Given the description of an element on the screen output the (x, y) to click on. 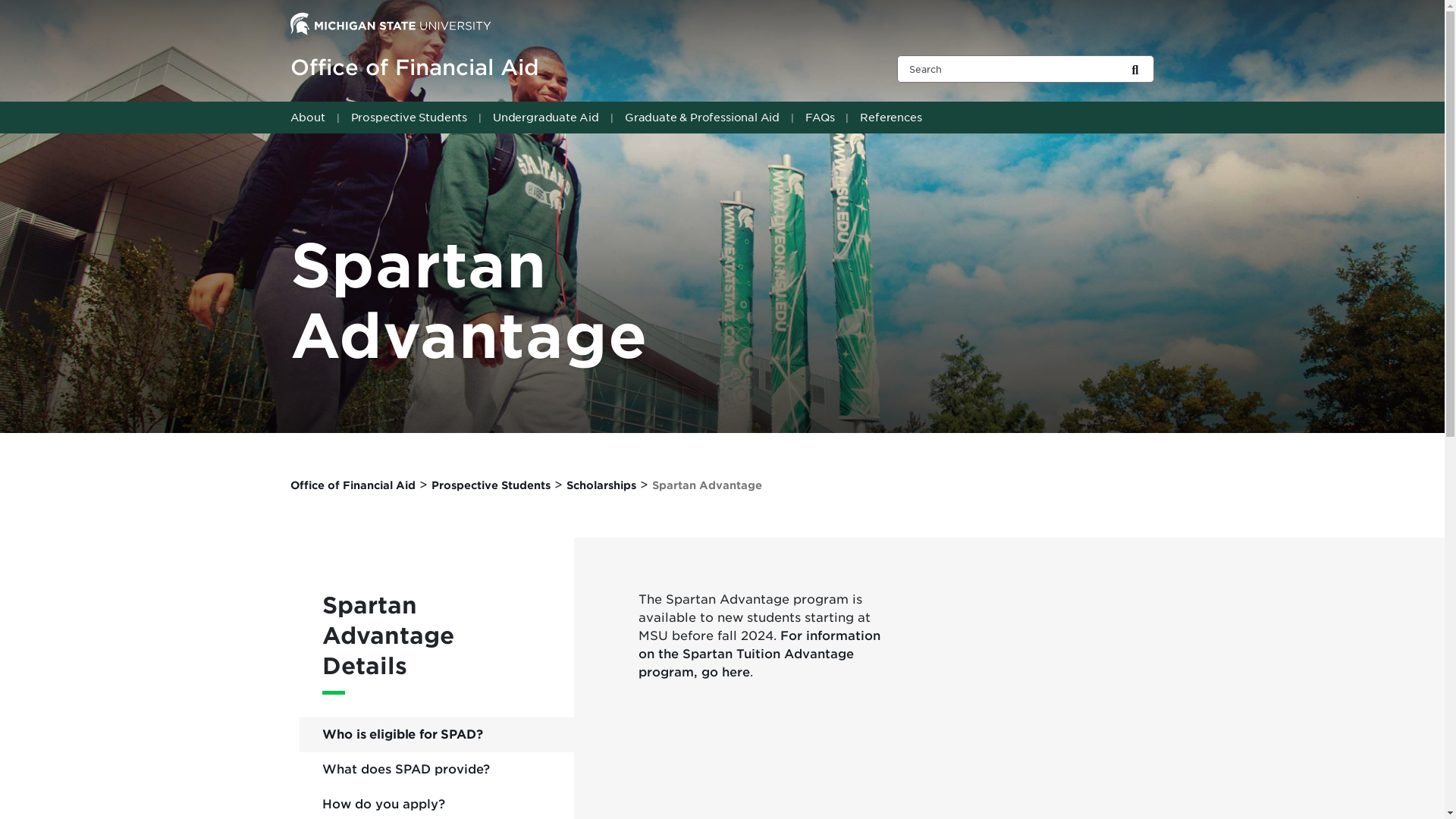
Office of Financial Aid (574, 68)
FAQs (821, 117)
Undergraduate Aid (548, 117)
Prospective Students (410, 117)
About (310, 117)
Michigan State University (389, 23)
Michigan State University (389, 22)
